Given the description of an element on the screen output the (x, y) to click on. 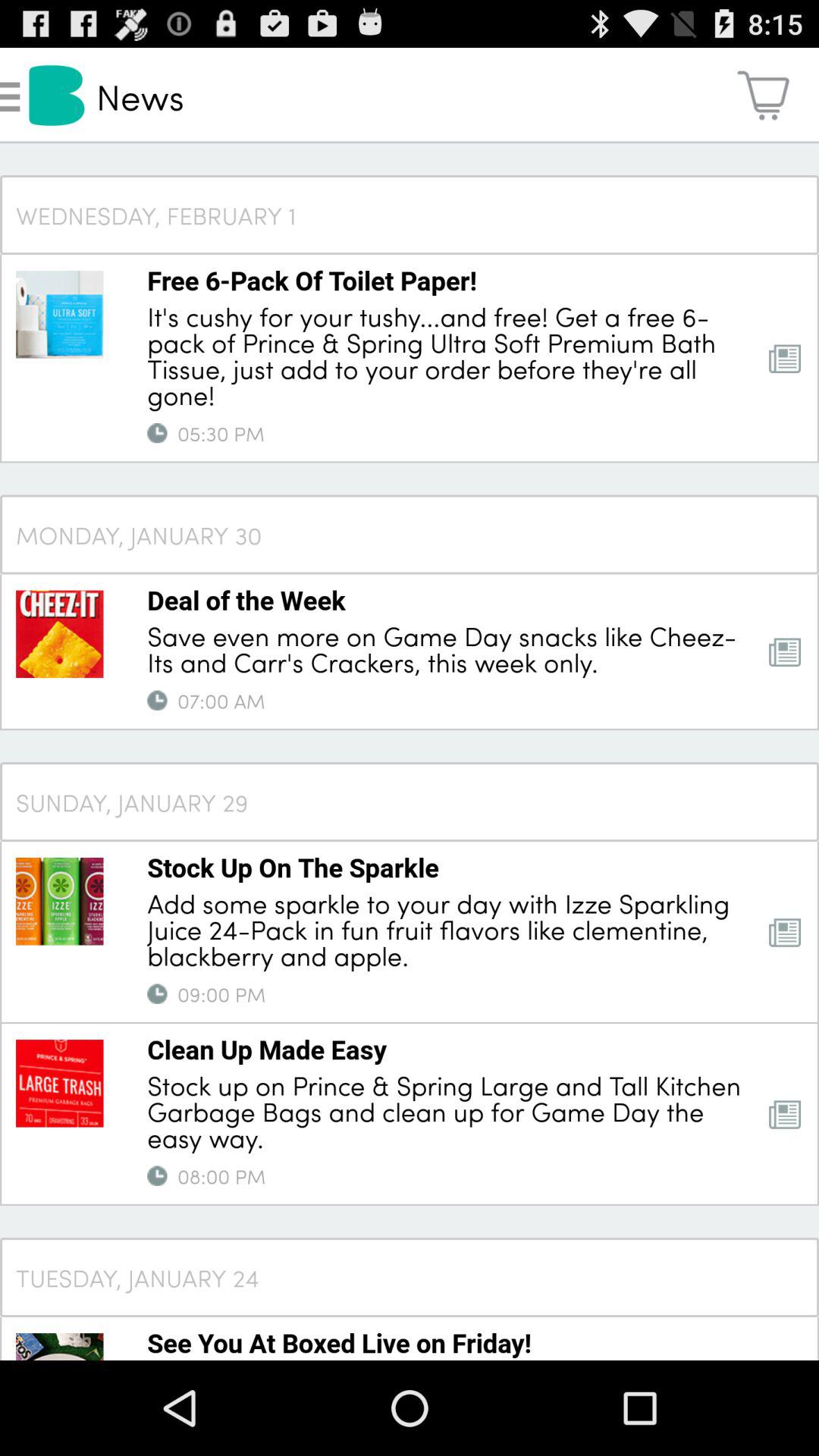
click the see you at app (339, 1342)
